Given the description of an element on the screen output the (x, y) to click on. 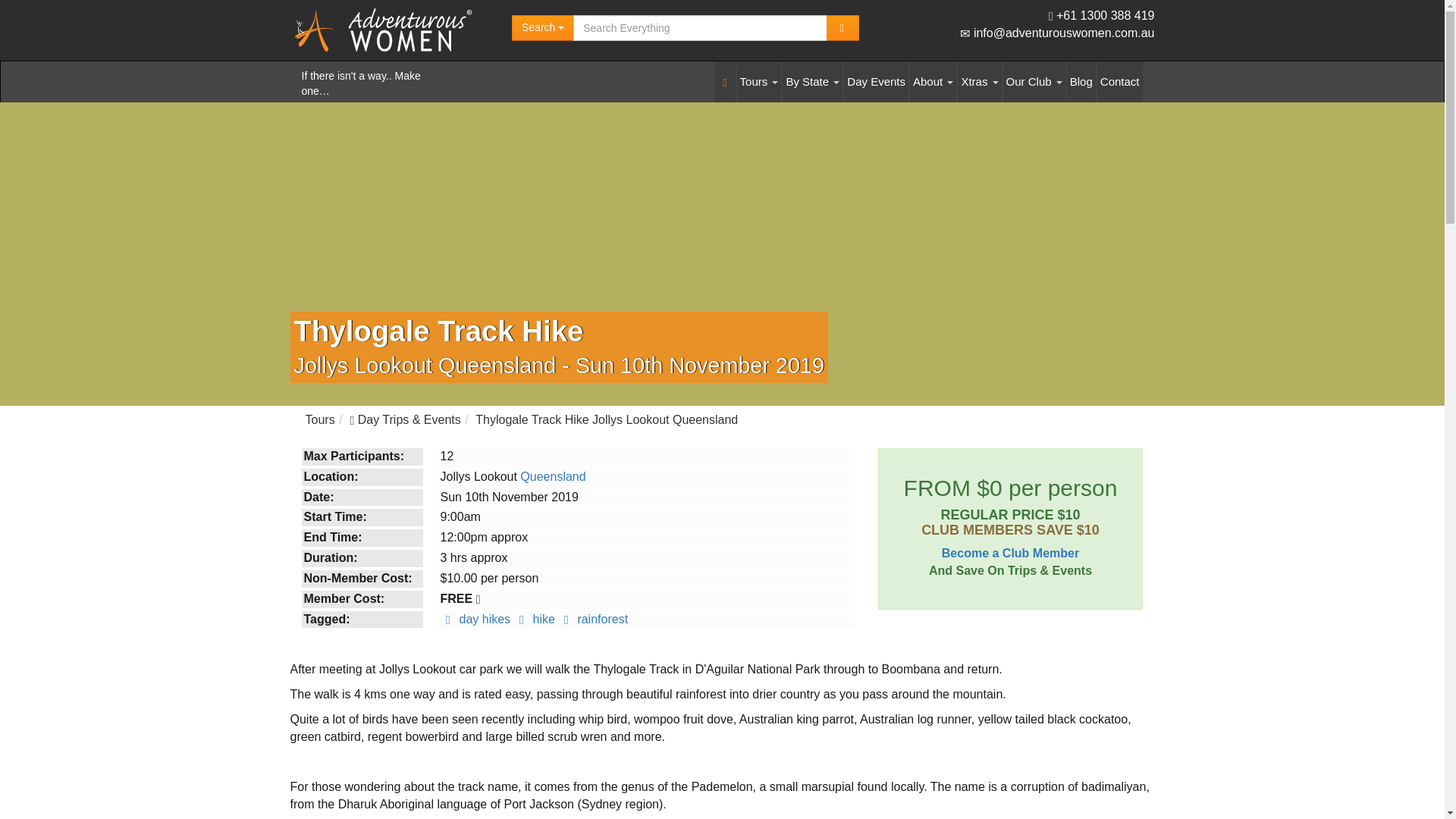
About (933, 81)
Tours (758, 81)
Search (542, 27)
By State (813, 81)
Adventurous Women (390, 29)
Day Events (876, 81)
